Given the description of an element on the screen output the (x, y) to click on. 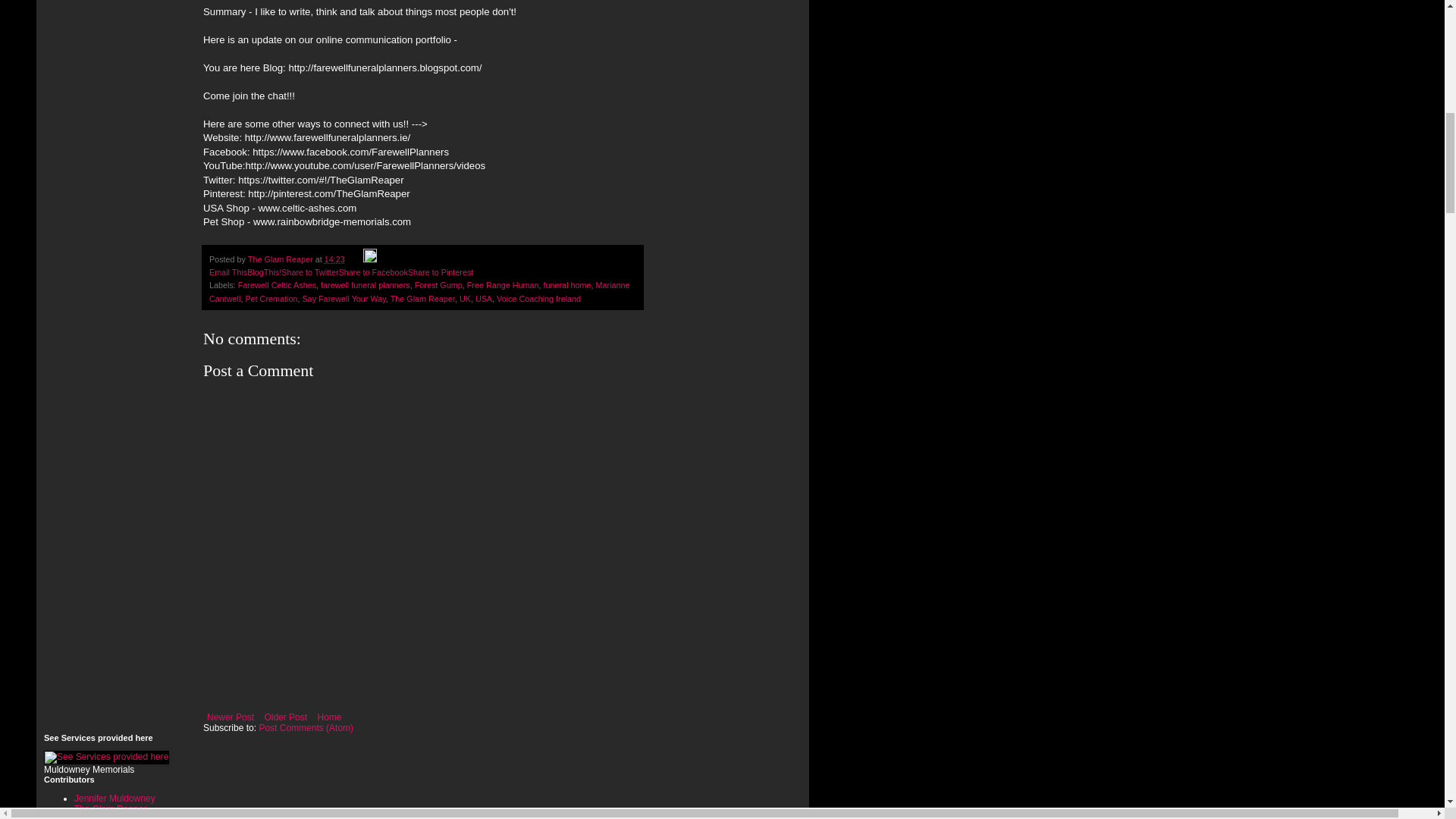
Email This (228, 271)
Share to Pinterest (440, 271)
Say Farewell Your Way (343, 298)
14:23 (334, 258)
Share to Facebook (373, 271)
The Glam Reaper (110, 808)
UK (465, 298)
Edit Post (369, 258)
Forest Gump (438, 284)
USA (484, 298)
author profile (281, 258)
Free Range Human (502, 284)
Farewell Celtic Ashes (276, 284)
BlogThis! (264, 271)
Newer Post (230, 717)
